Given the description of an element on the screen output the (x, y) to click on. 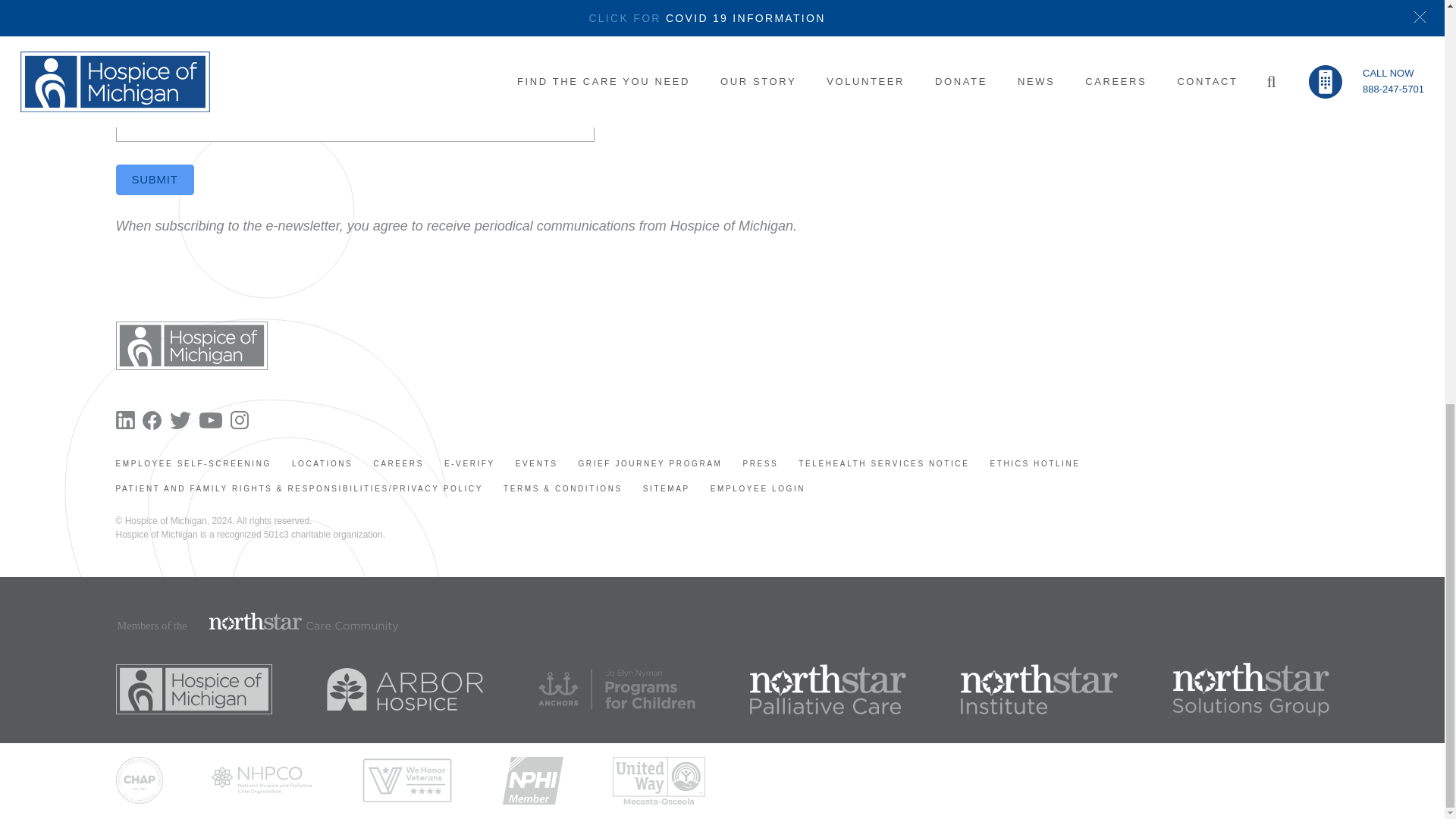
Back to top (30, 47)
